Given the description of an element on the screen output the (x, y) to click on. 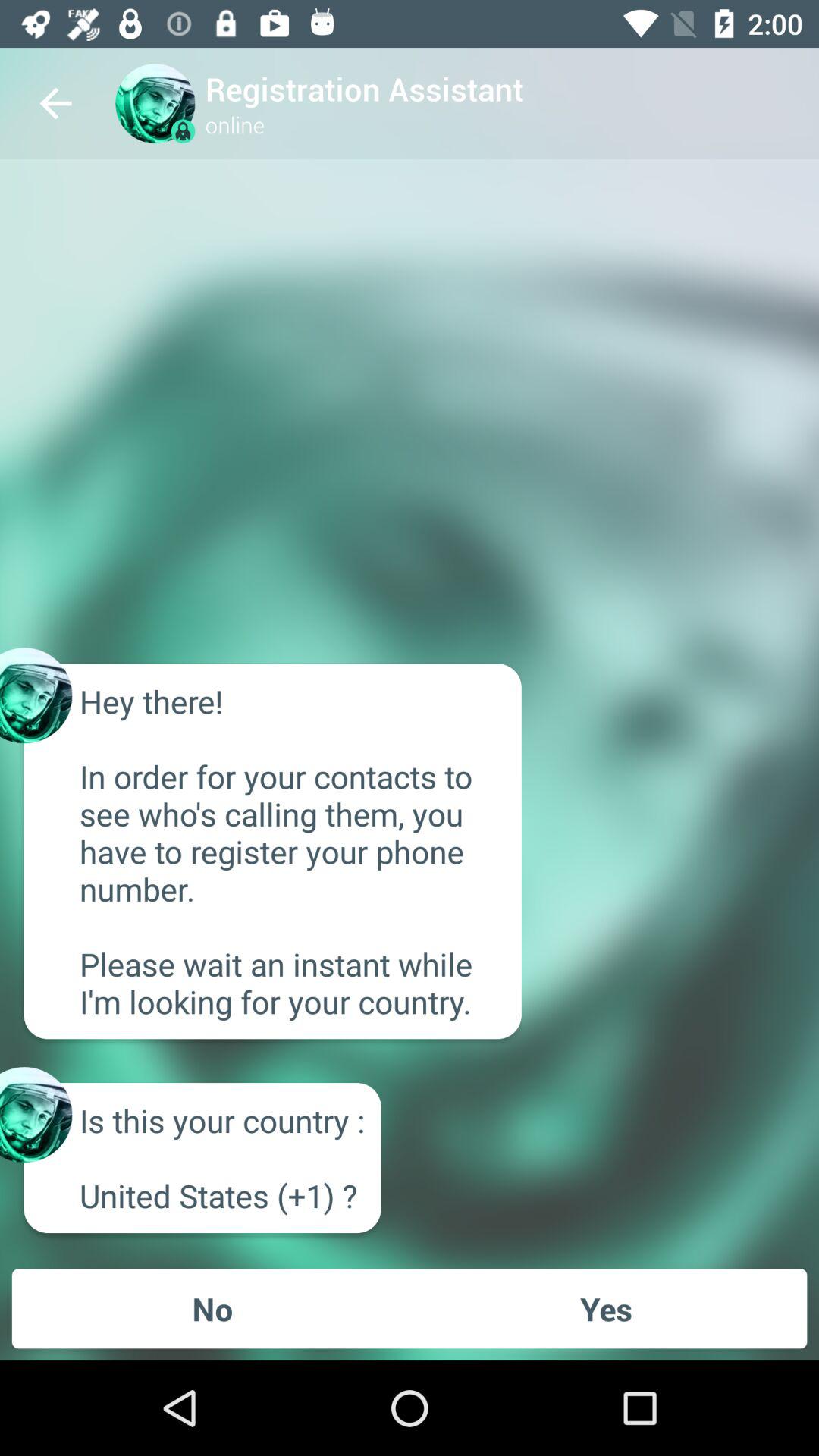
press icon next to the no (606, 1308)
